Given the description of an element on the screen output the (x, y) to click on. 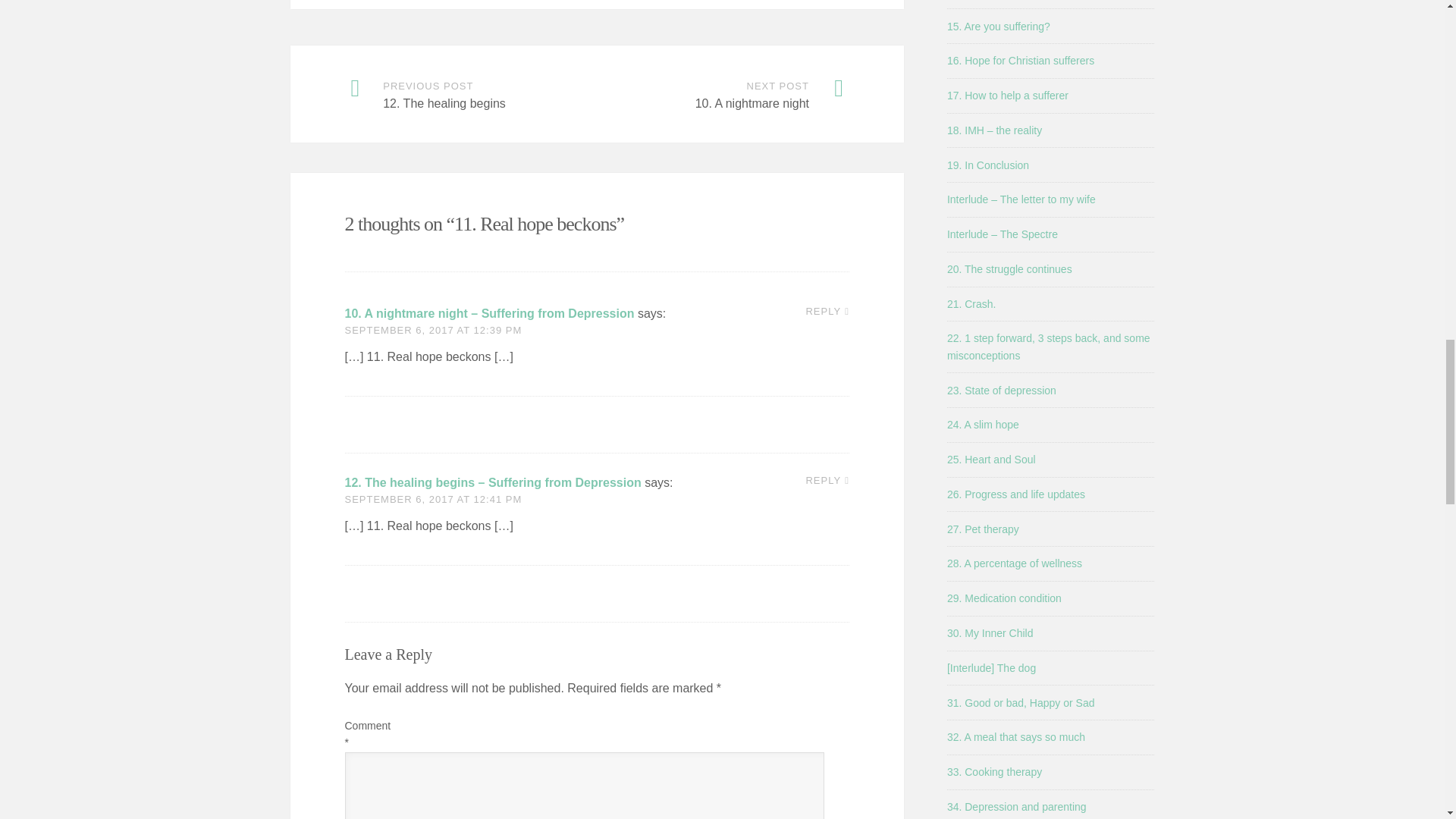
SEPTEMBER 6, 2017 AT 12:41 PM (432, 499)
REPLY (826, 310)
REPLY (826, 480)
SEPTEMBER 6, 2017 AT 12:39 PM (432, 329)
